Given the description of an element on the screen output the (x, y) to click on. 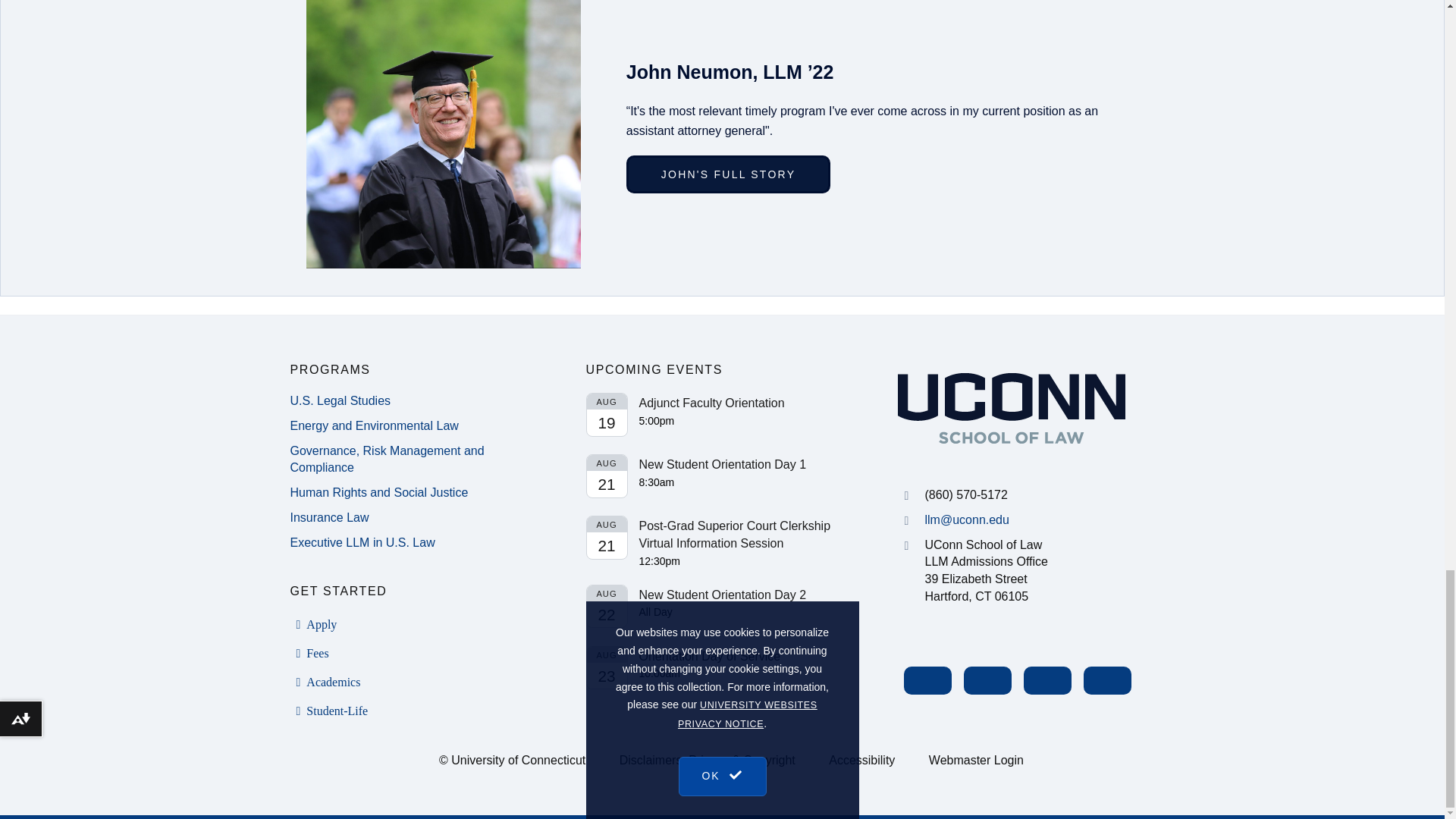
August (606, 654)
August (606, 401)
August (606, 462)
August (606, 524)
August (606, 593)
